Given the description of an element on the screen output the (x, y) to click on. 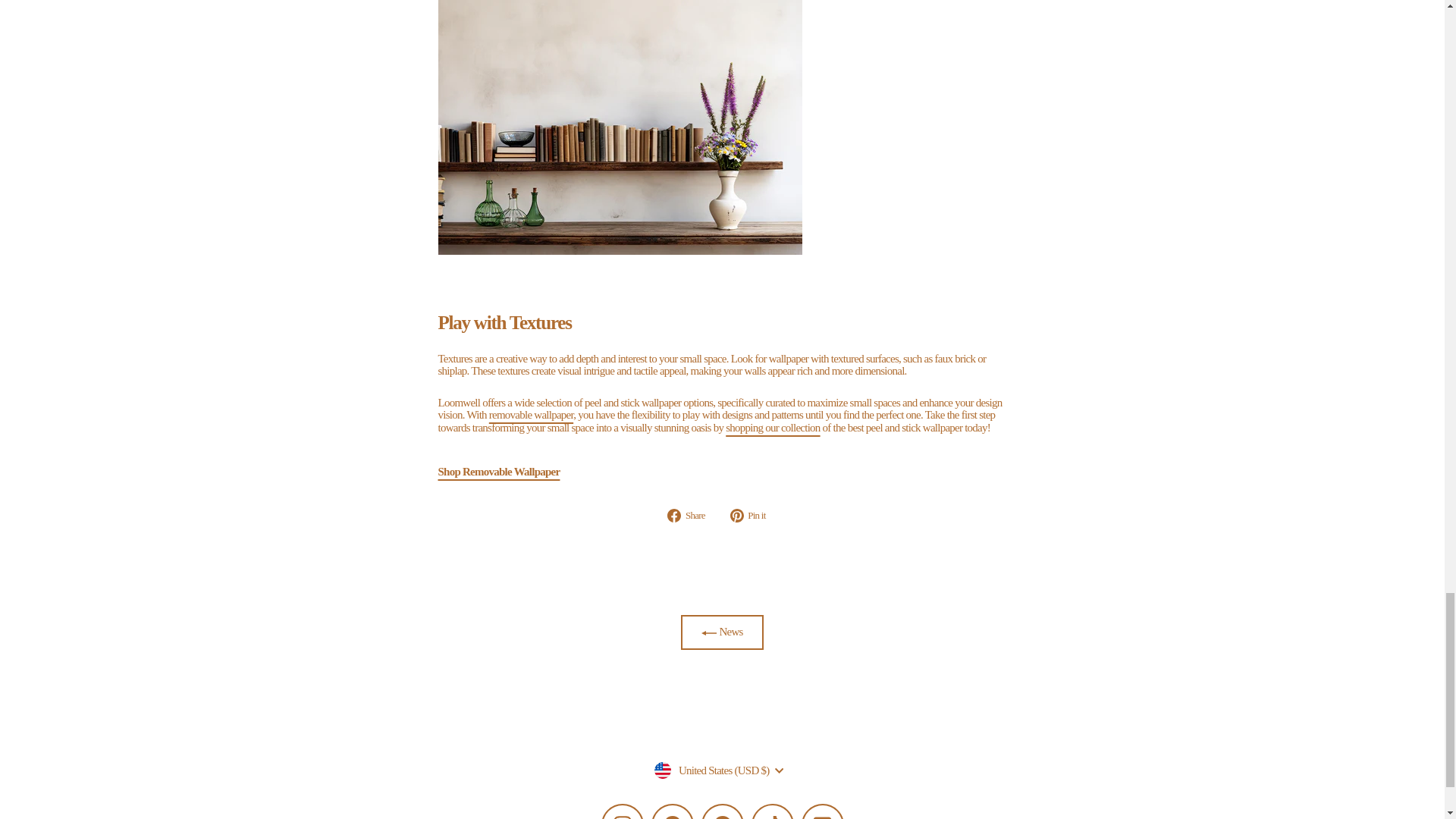
Loomwell Home Goods on Facebook (671, 811)
Loomwell Home Goods on YouTube (821, 811)
Loomwell Home Goods on TikTok (772, 811)
Pin on Pinterest (753, 515)
Share on Facebook (691, 515)
Loomwell Home Goods on Instagram (621, 811)
Loomwell Home Goods on Pinterest (721, 811)
